Given the description of an element on the screen output the (x, y) to click on. 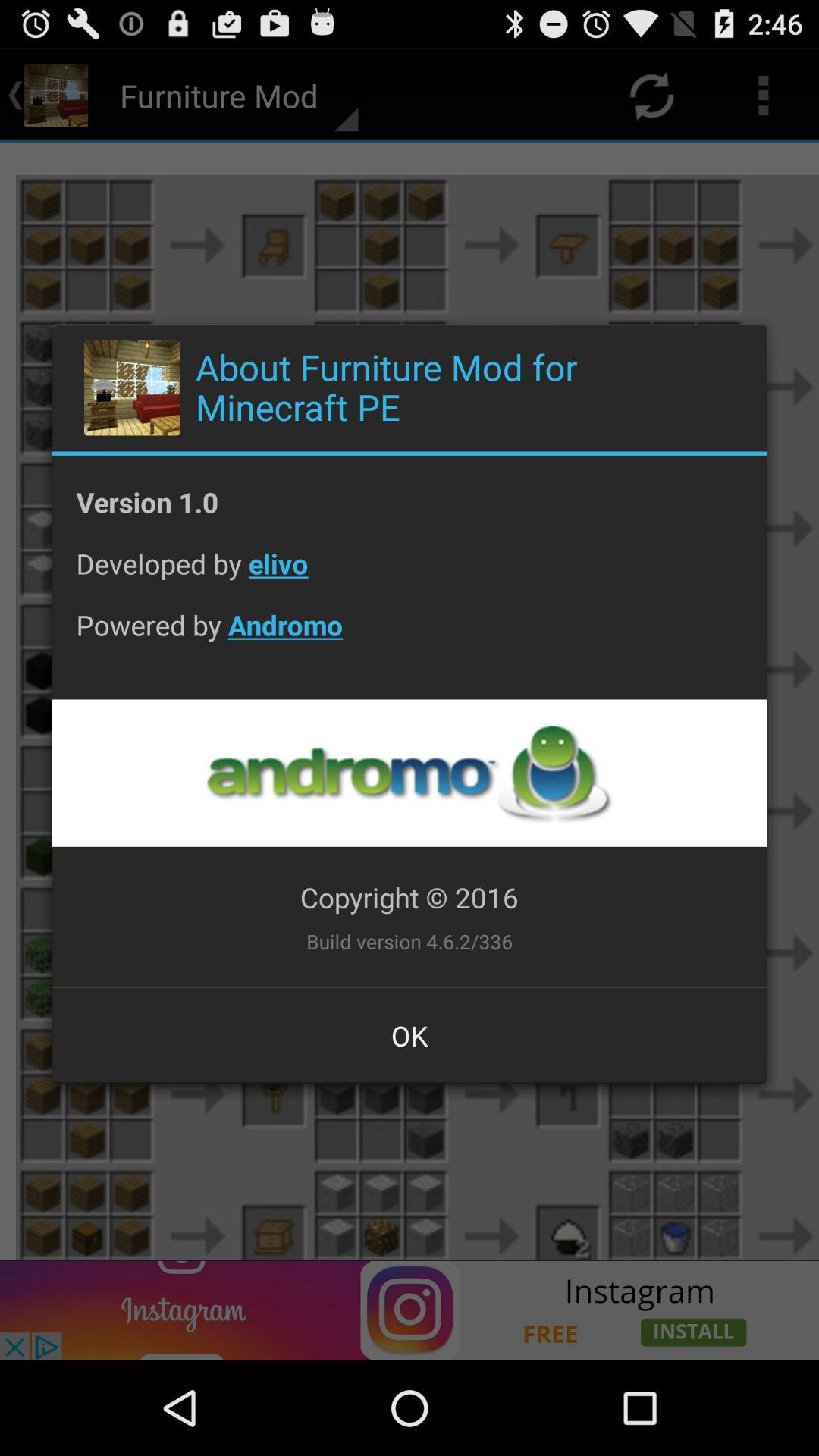
jump until developed by elivo icon (409, 575)
